Given the description of an element on the screen output the (x, y) to click on. 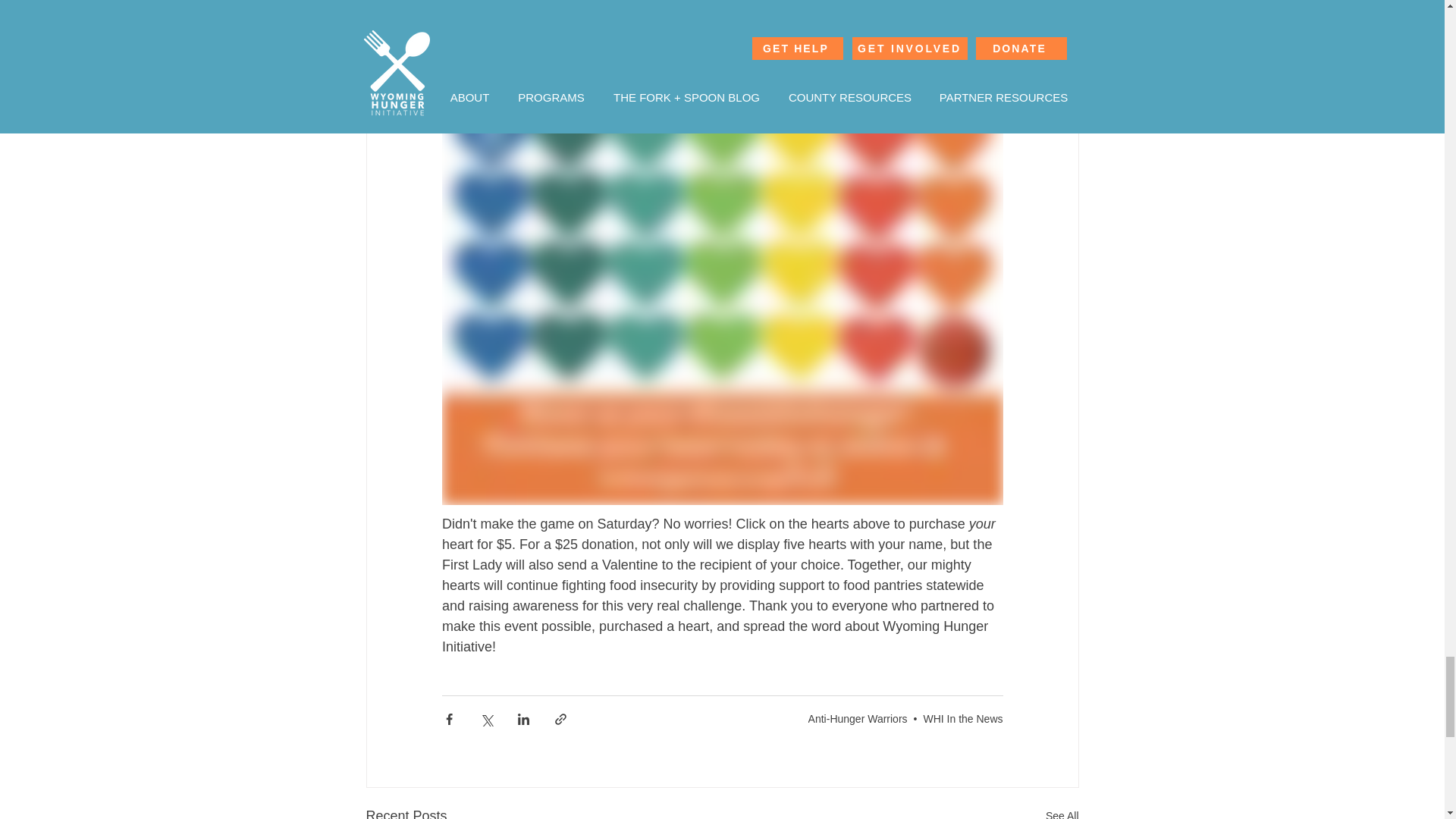
Anti-Hunger Warriors (857, 718)
See All (1061, 812)
WHI In the News (963, 718)
